Given the description of an element on the screen output the (x, y) to click on. 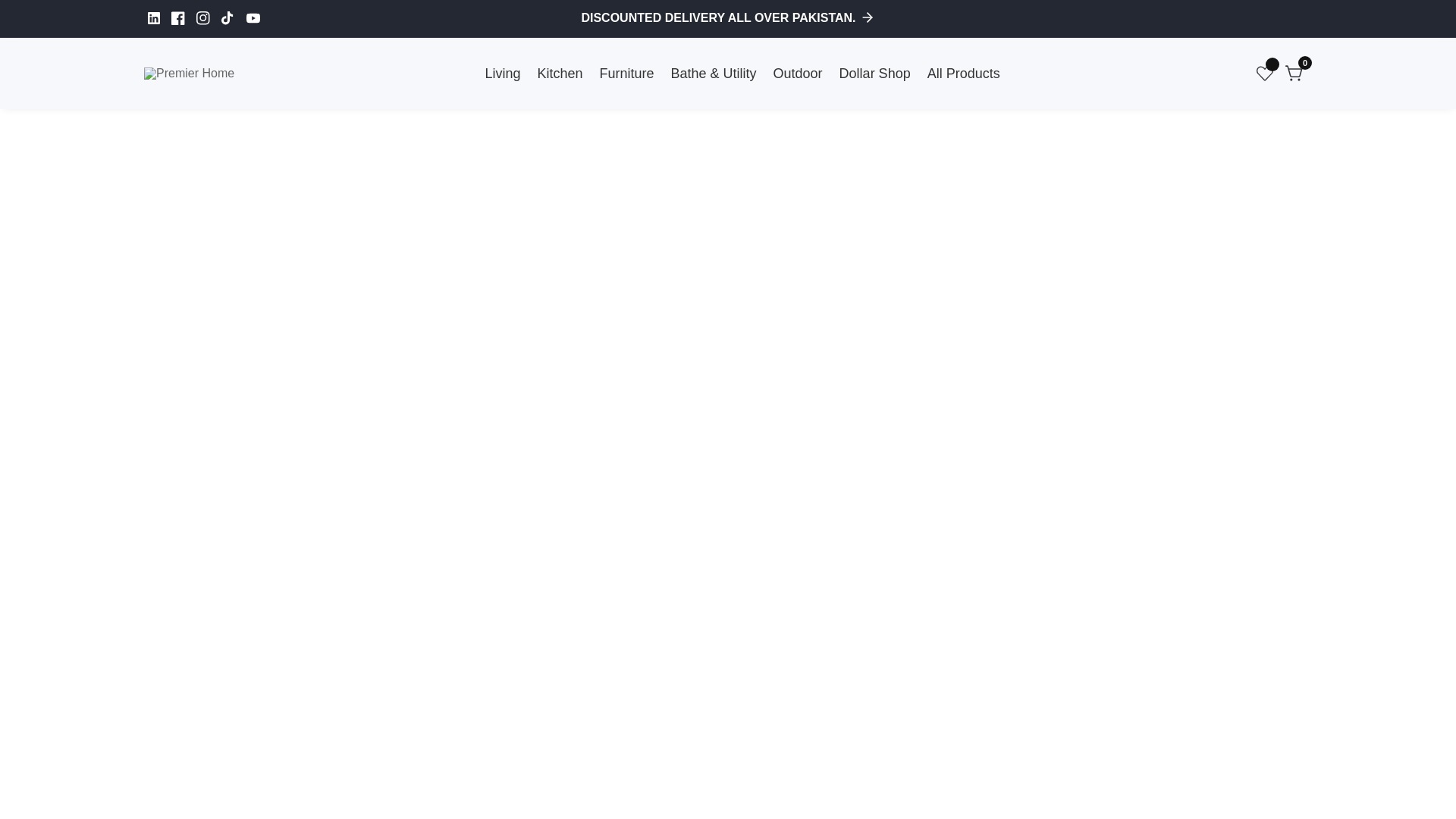
YouTube (1295, 72)
Dollar Shop (253, 17)
DISCOUNTED DELIVERY ALL OVER PAKISTAN. (875, 72)
Facebook (727, 18)
Skip to content (178, 17)
Instagram (11, 7)
TikTok (203, 17)
Twitter (227, 17)
All Products (153, 17)
